Given the description of an element on the screen output the (x, y) to click on. 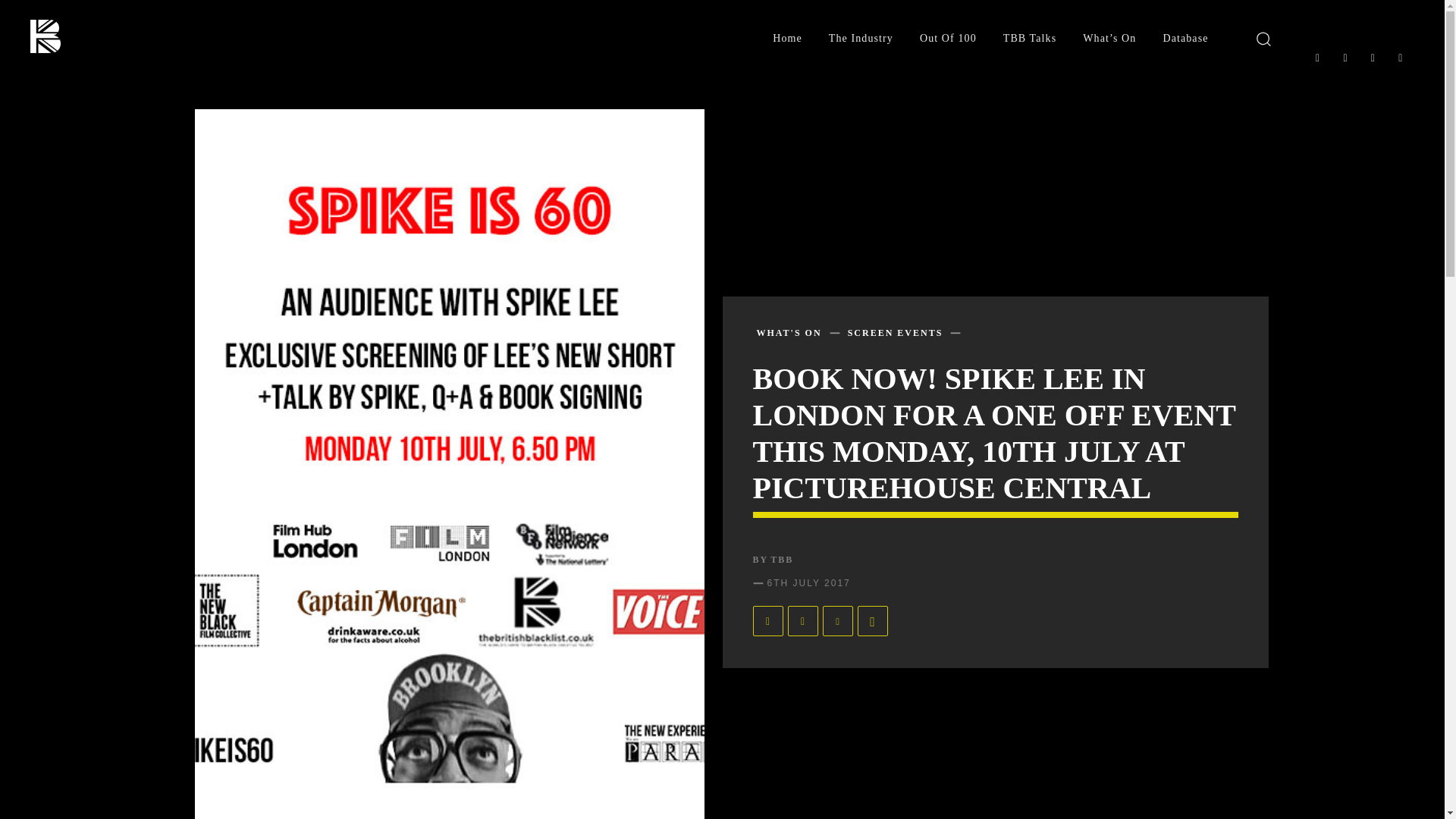
Instagram (1345, 57)
WHAT'S ON (789, 332)
SCREEN EVENTS (895, 332)
Twitter (1372, 57)
Facebook (1316, 57)
Youtube (1400, 57)
The Industry (860, 38)
